Given the description of an element on the screen output the (x, y) to click on. 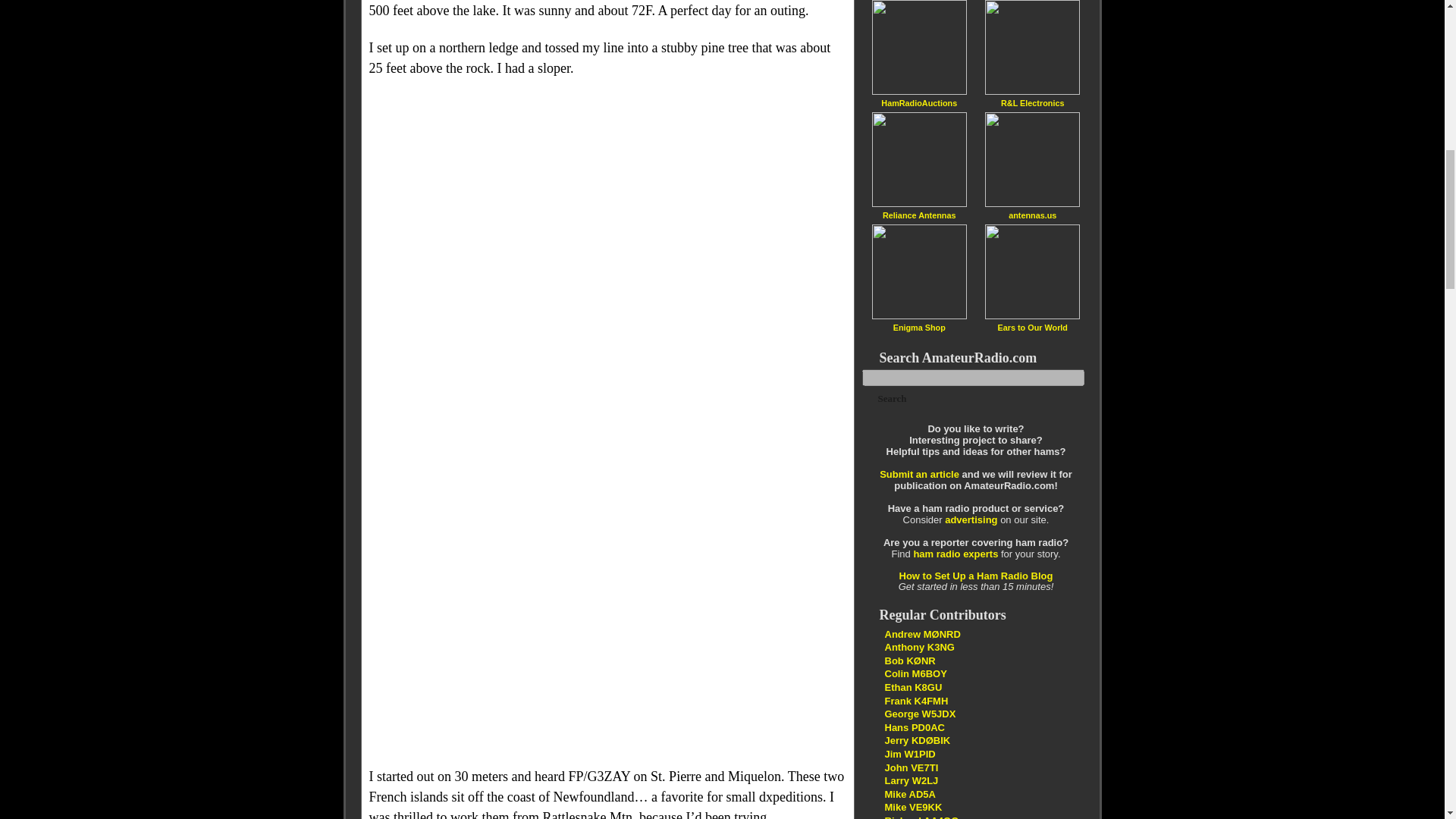
Lower your Power  Raise your Expectations (920, 816)
MY HAM RADIO EXPERIENCES (908, 794)
Thoughts of a Dutch radio amateur (913, 727)
Search (891, 398)
Entertain, Encourage, Educate and Inspire (916, 740)
